Given the description of an element on the screen output the (x, y) to click on. 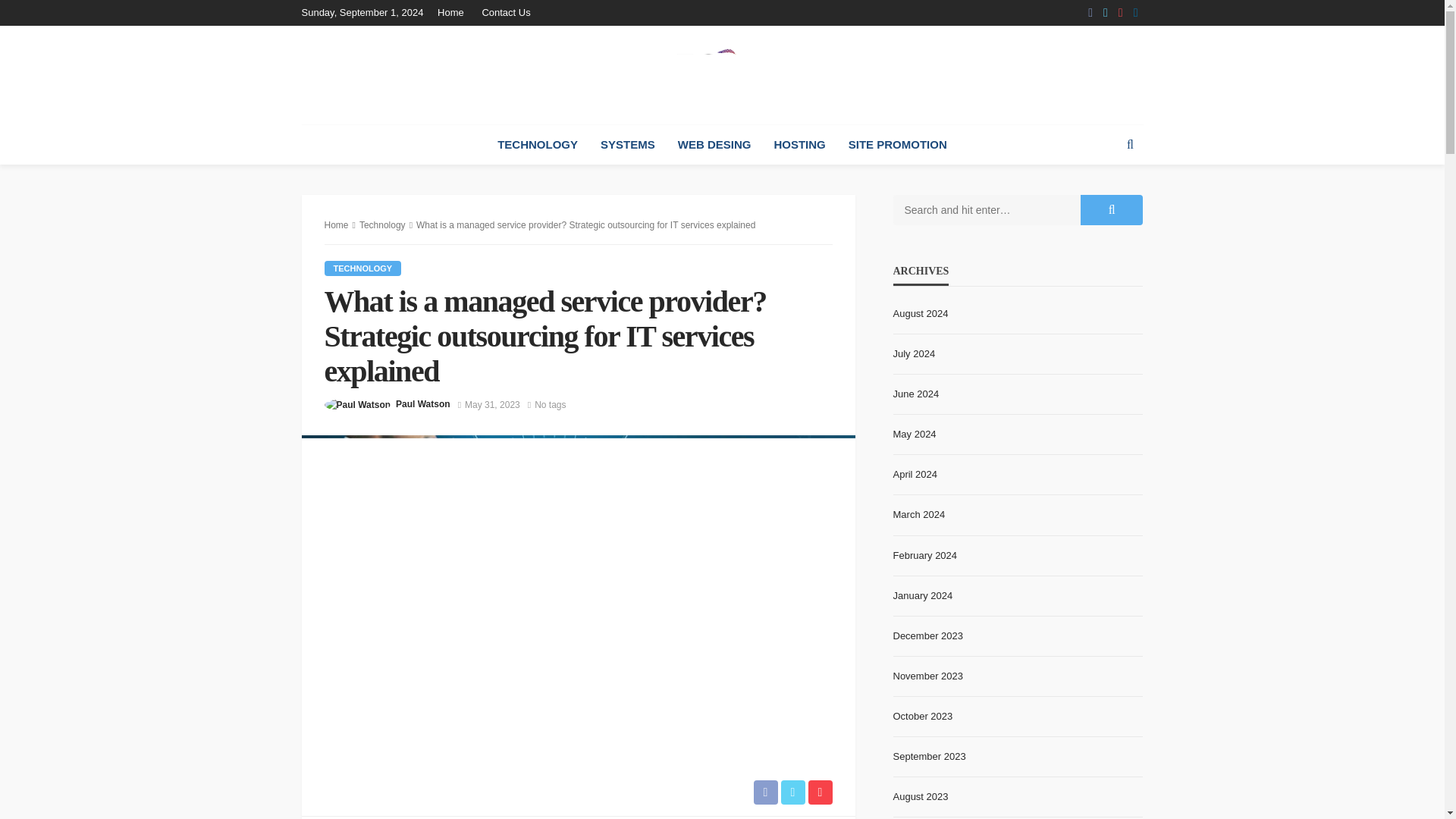
WEB DESING (714, 144)
Contact Us (505, 12)
TECHNOLOGY (362, 268)
SYSTEMS (627, 144)
TECHNOLOGY (537, 144)
Home (336, 225)
HOSTING (798, 144)
Home (454, 12)
SITE PROMOTION (897, 144)
Paul Watson (422, 403)
